Given the description of an element on the screen output the (x, y) to click on. 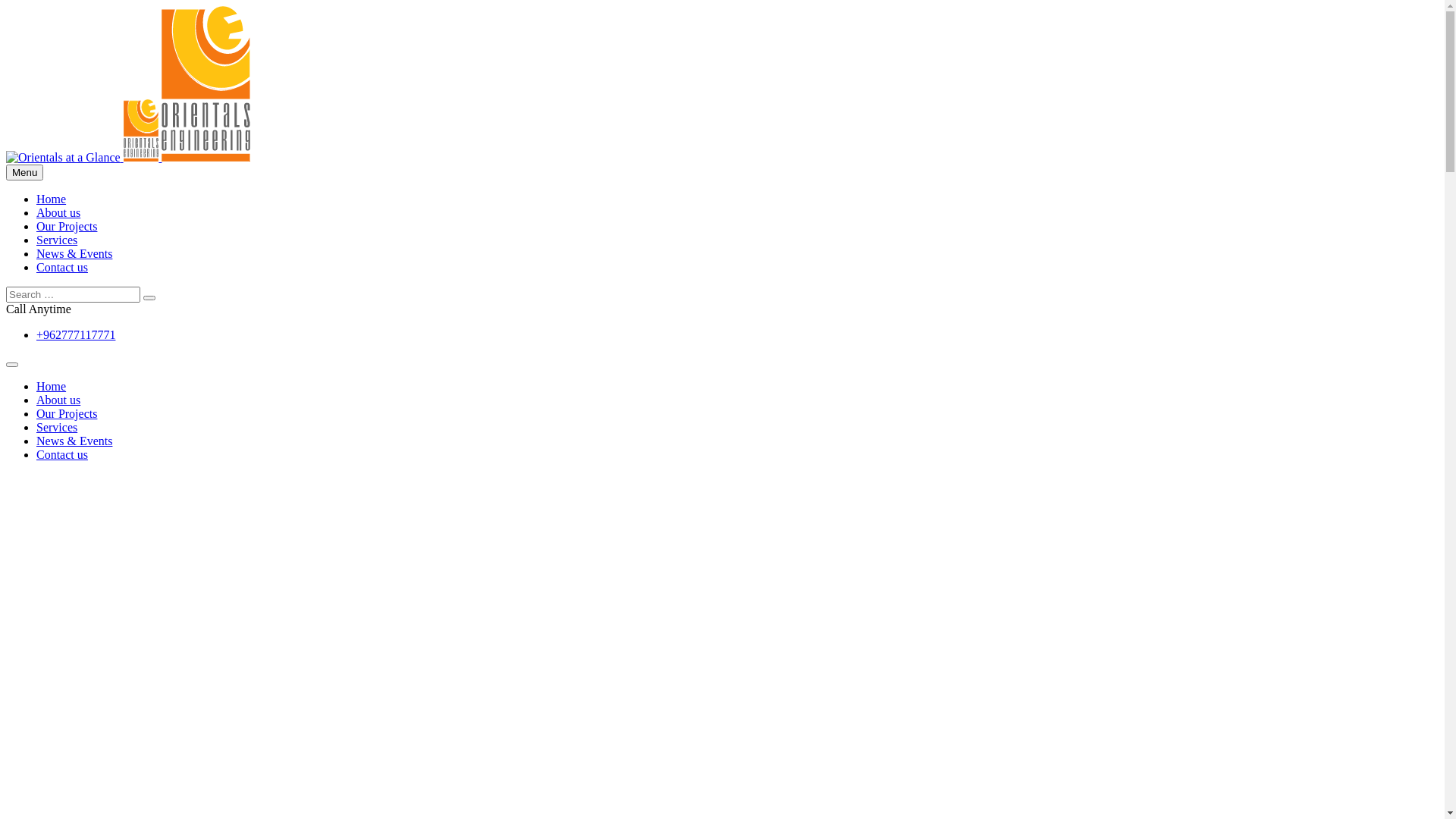
Home Element type: text (50, 385)
About us Element type: text (58, 399)
+962777117771 Element type: text (75, 334)
Menu Element type: text (24, 172)
Our Projects Element type: text (66, 225)
News & Events Element type: text (74, 253)
Contact us Element type: text (61, 266)
Services Element type: text (56, 239)
Services Element type: text (56, 426)
About us Element type: text (58, 212)
Search for: Element type: hover (73, 294)
News & Events Element type: text (74, 440)
Home Element type: text (50, 198)
Contact us Element type: text (61, 454)
Our Projects Element type: text (66, 413)
